Given the description of an element on the screen output the (x, y) to click on. 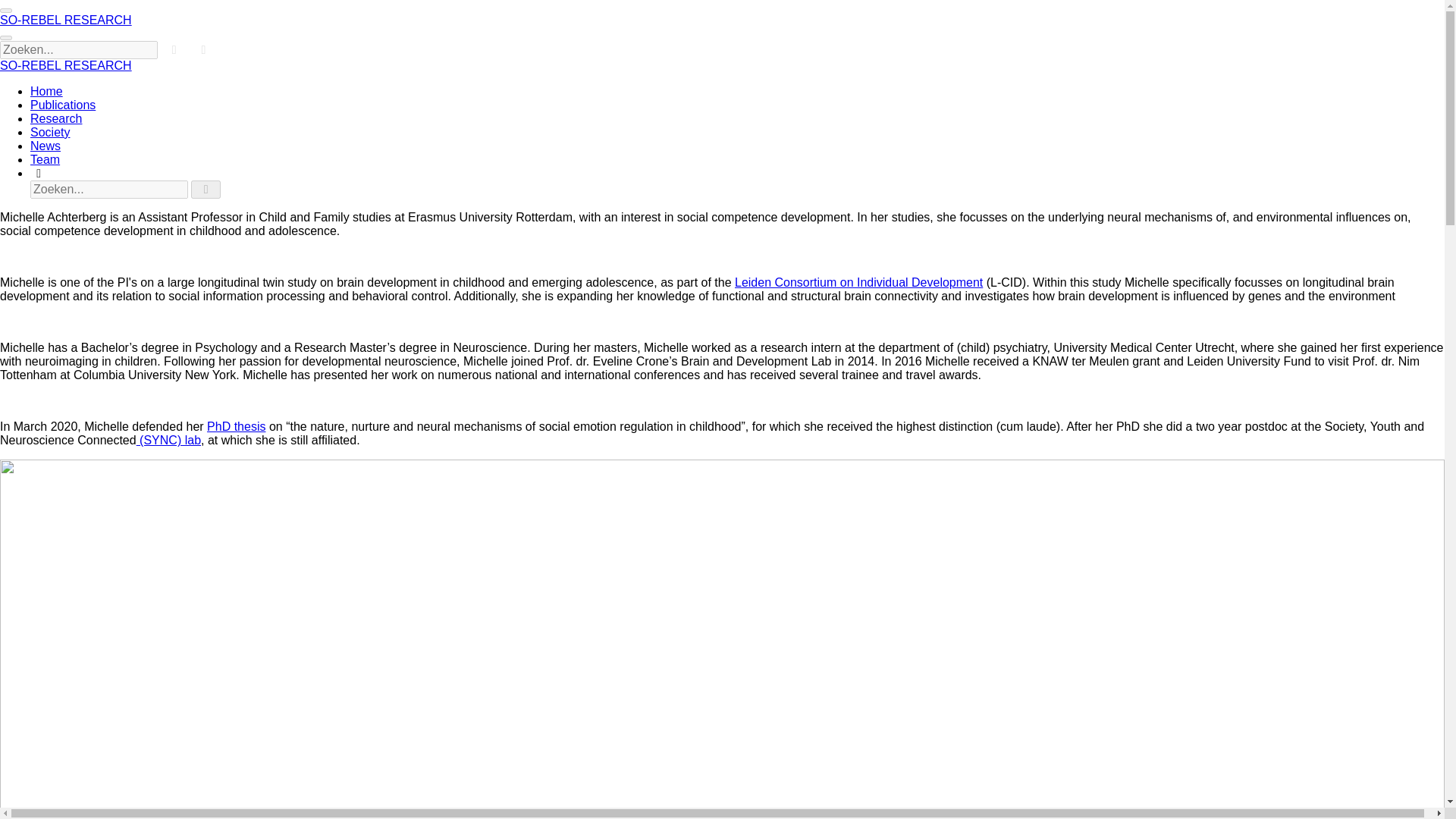
News (45, 145)
SO-REBEL RESEARCH (66, 65)
Team (44, 159)
Leiden Consortium on Individual Development (858, 282)
Home (46, 91)
PhD thesis (235, 426)
Research (55, 118)
Society (49, 132)
Publications (63, 104)
Zoeken (38, 173)
